Given the description of an element on the screen output the (x, y) to click on. 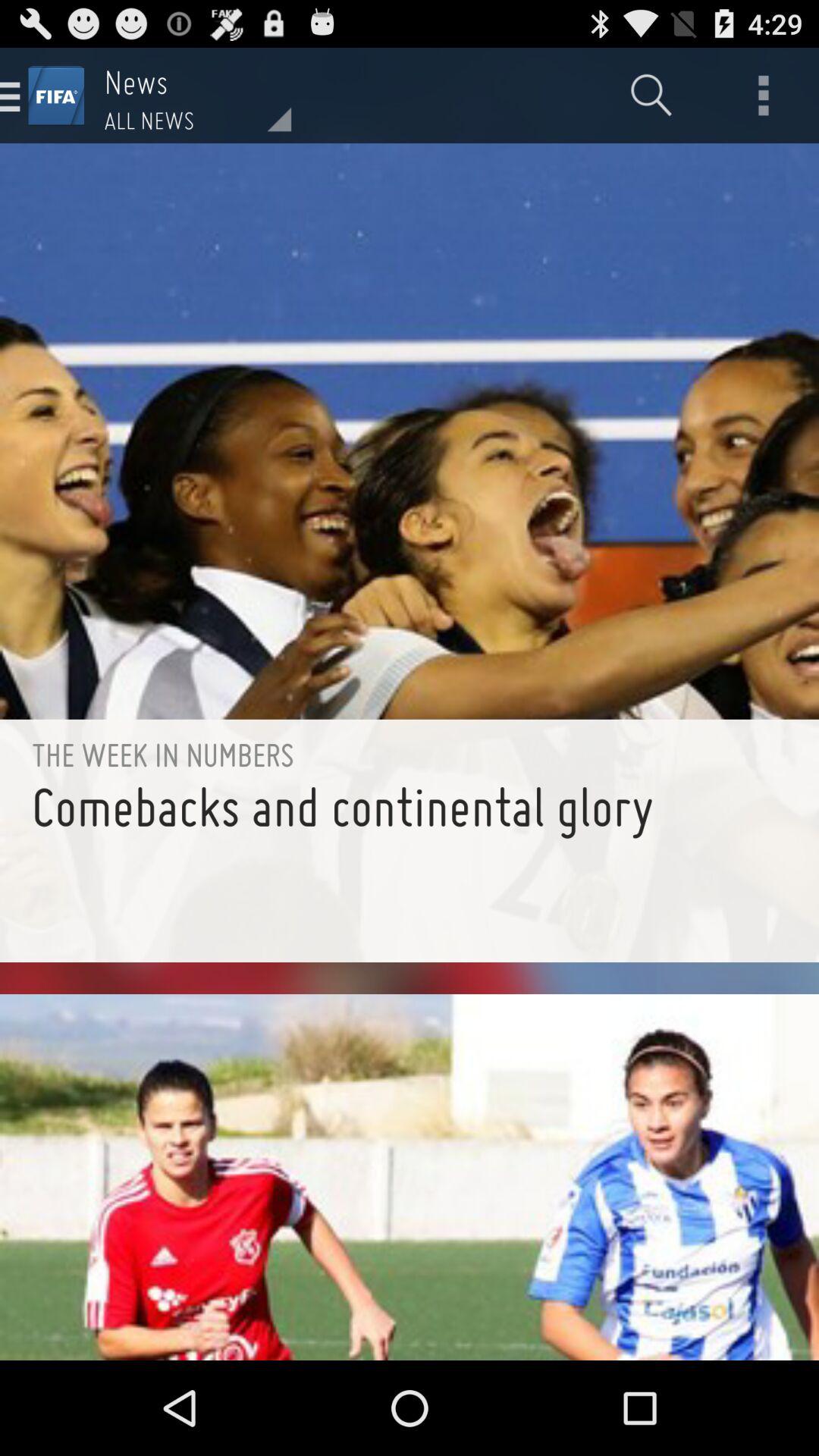
scroll until the week in (409, 754)
